Given the description of an element on the screen output the (x, y) to click on. 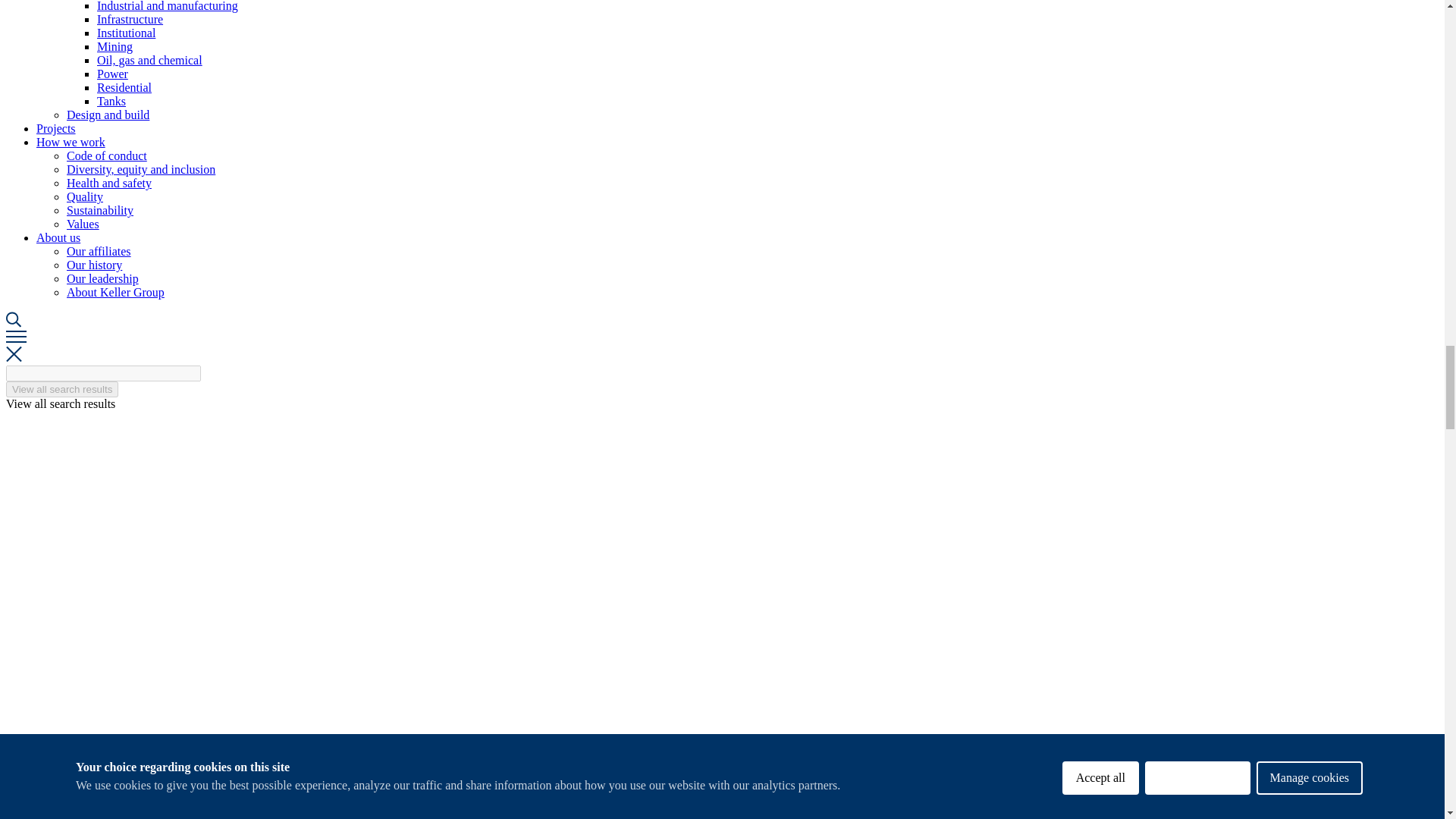
View all search results (61, 389)
